Given the description of an element on the screen output the (x, y) to click on. 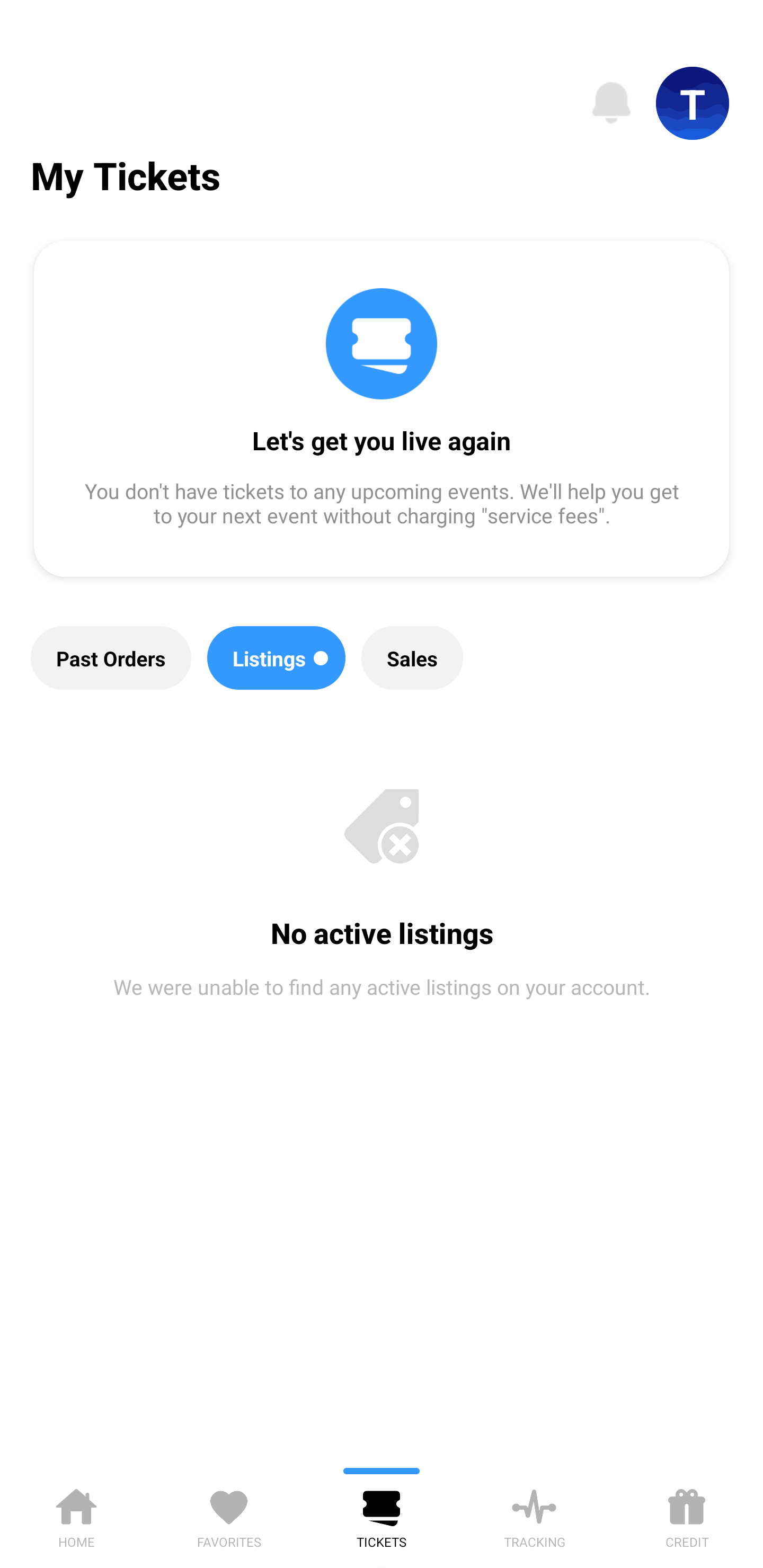
T (692, 103)
Past Orders (110, 657)
Listings (276, 657)
Sales (412, 657)
HOME (76, 1515)
FAVORITES (228, 1515)
TICKETS (381, 1515)
TRACKING (533, 1515)
CREDIT (686, 1515)
